Given the description of an element on the screen output the (x, y) to click on. 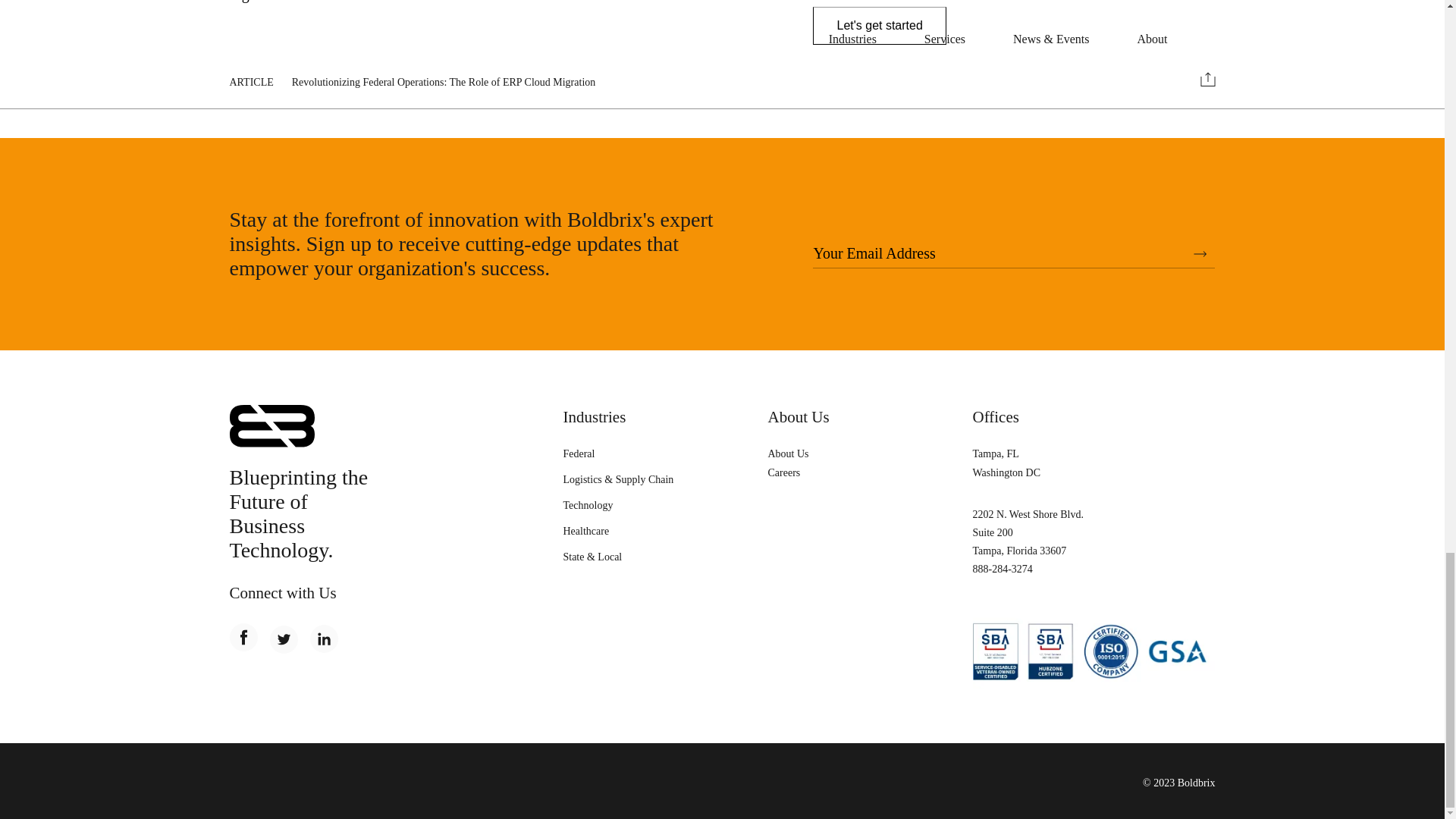
Let's get started (878, 25)
Let's get started (878, 25)
